Given the description of an element on the screen output the (x, y) to click on. 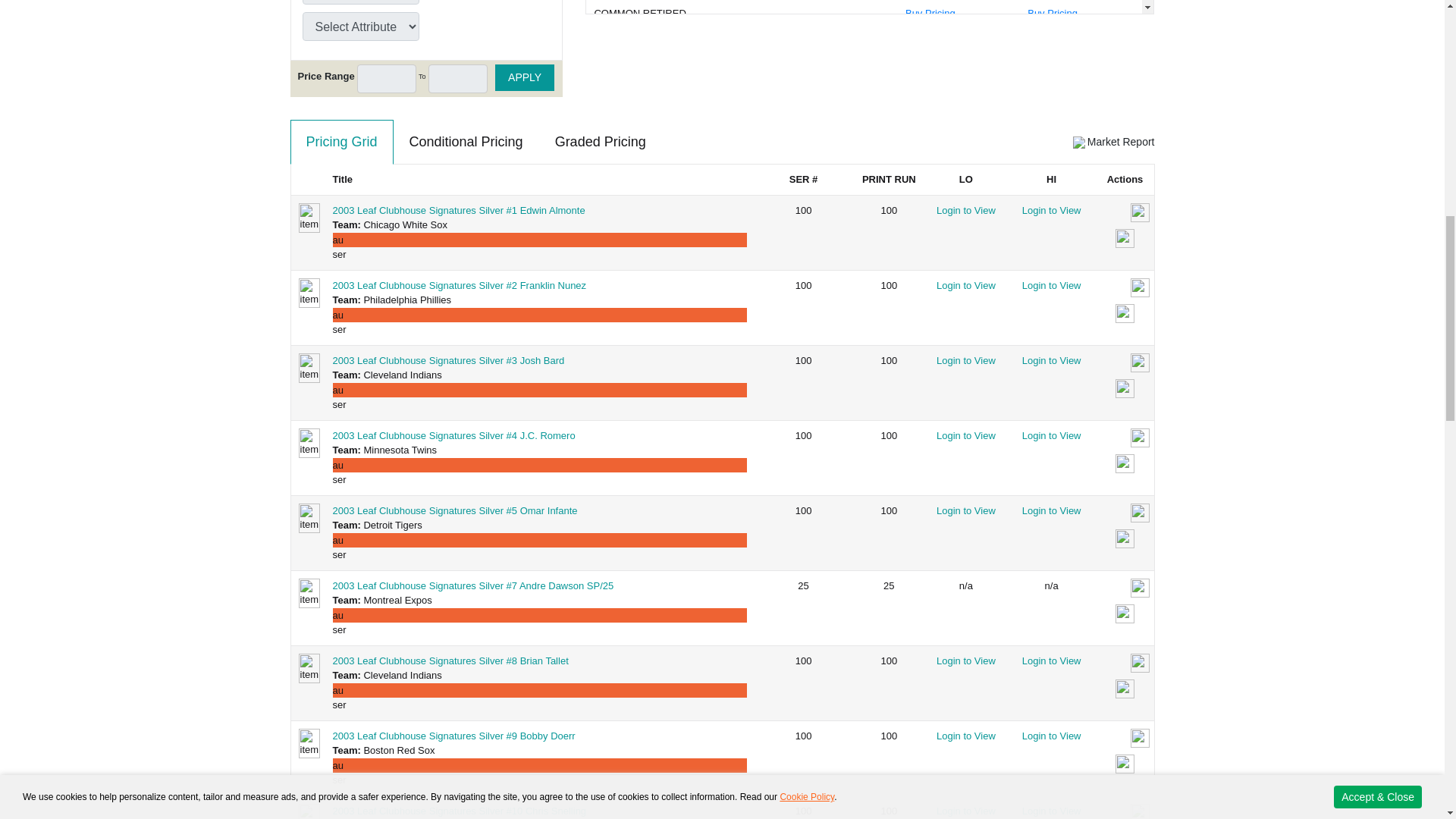
Login to View Pricing (965, 360)
login or buy market data (1124, 314)
apply (524, 77)
login or buy market data (1124, 239)
Please login to use price range filter (457, 78)
login or buy market data (1124, 389)
Login to View Pricing (1051, 284)
Login to View Pricing (965, 210)
Login to View Pricing (1051, 360)
Login to View Pricing (1051, 210)
